Given the description of an element on the screen output the (x, y) to click on. 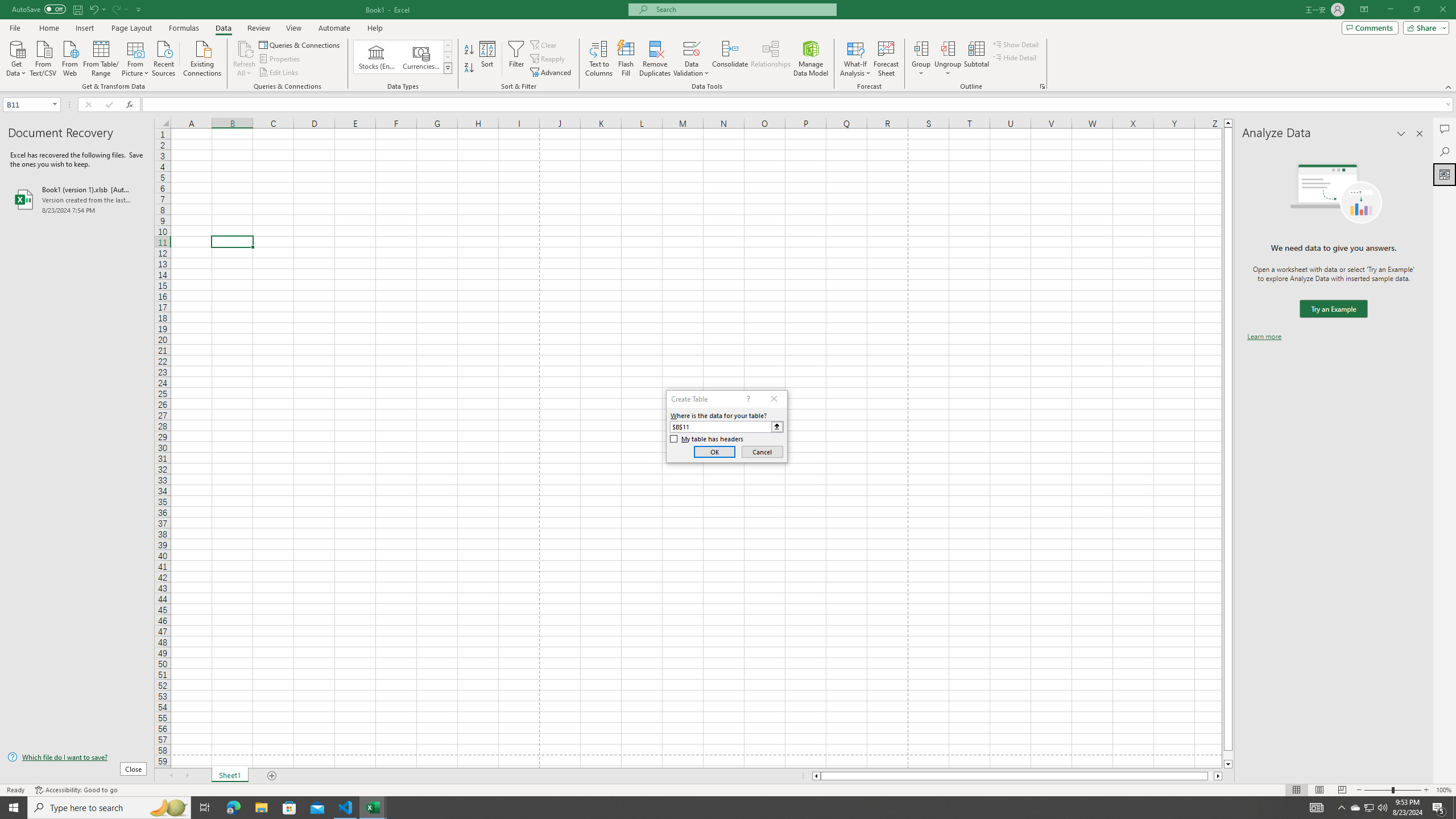
Consolidate... (729, 58)
